Given the description of an element on the screen output the (x, y) to click on. 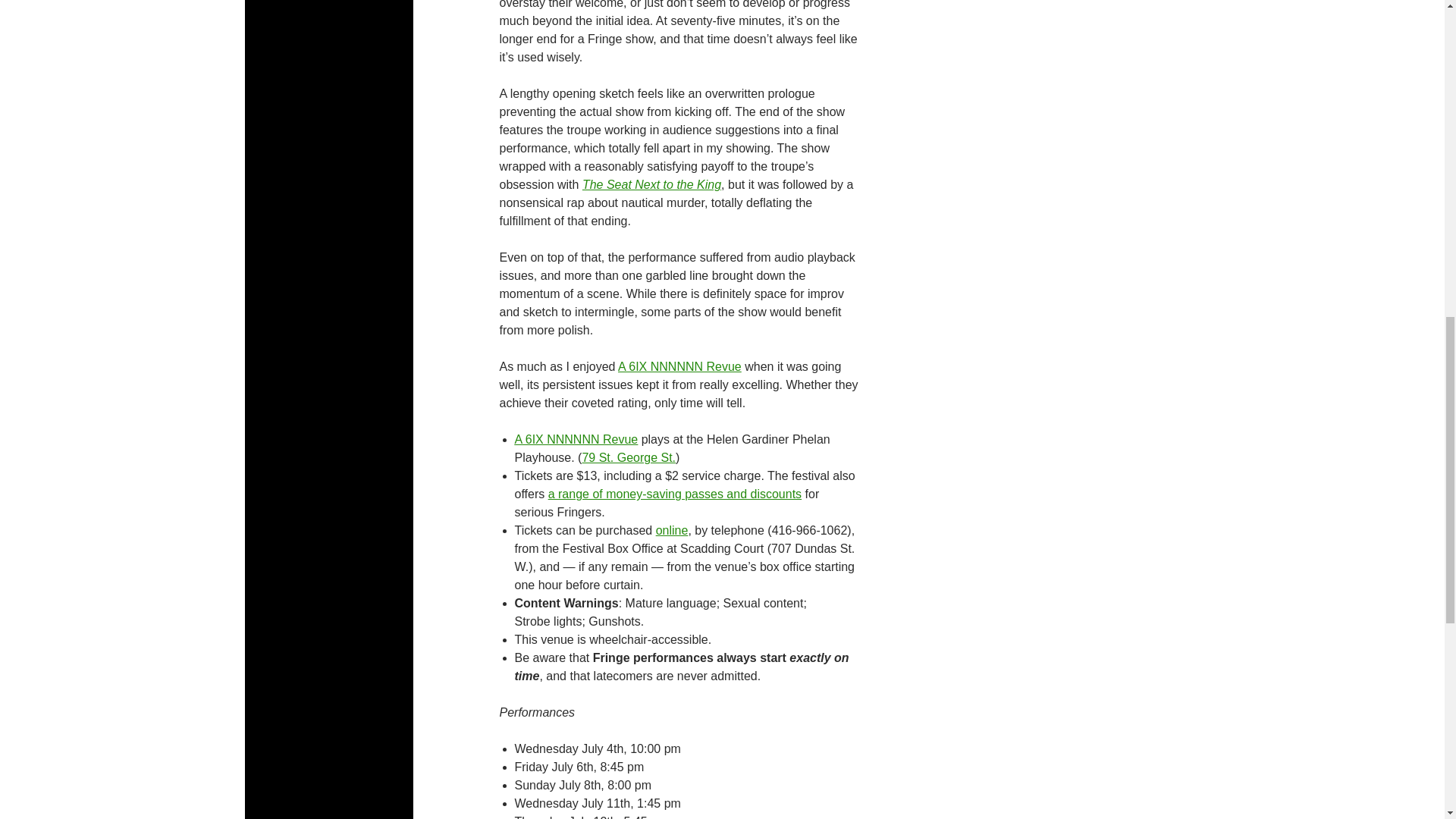
A 6IX NNNNNN Revue (679, 366)
79 St. George St. (627, 457)
The Seat Next to the King (651, 184)
A 6IX NNNNNN Revue (575, 439)
online (672, 530)
a range of money-saving passes and discounts (675, 493)
